Given the description of an element on the screen output the (x, y) to click on. 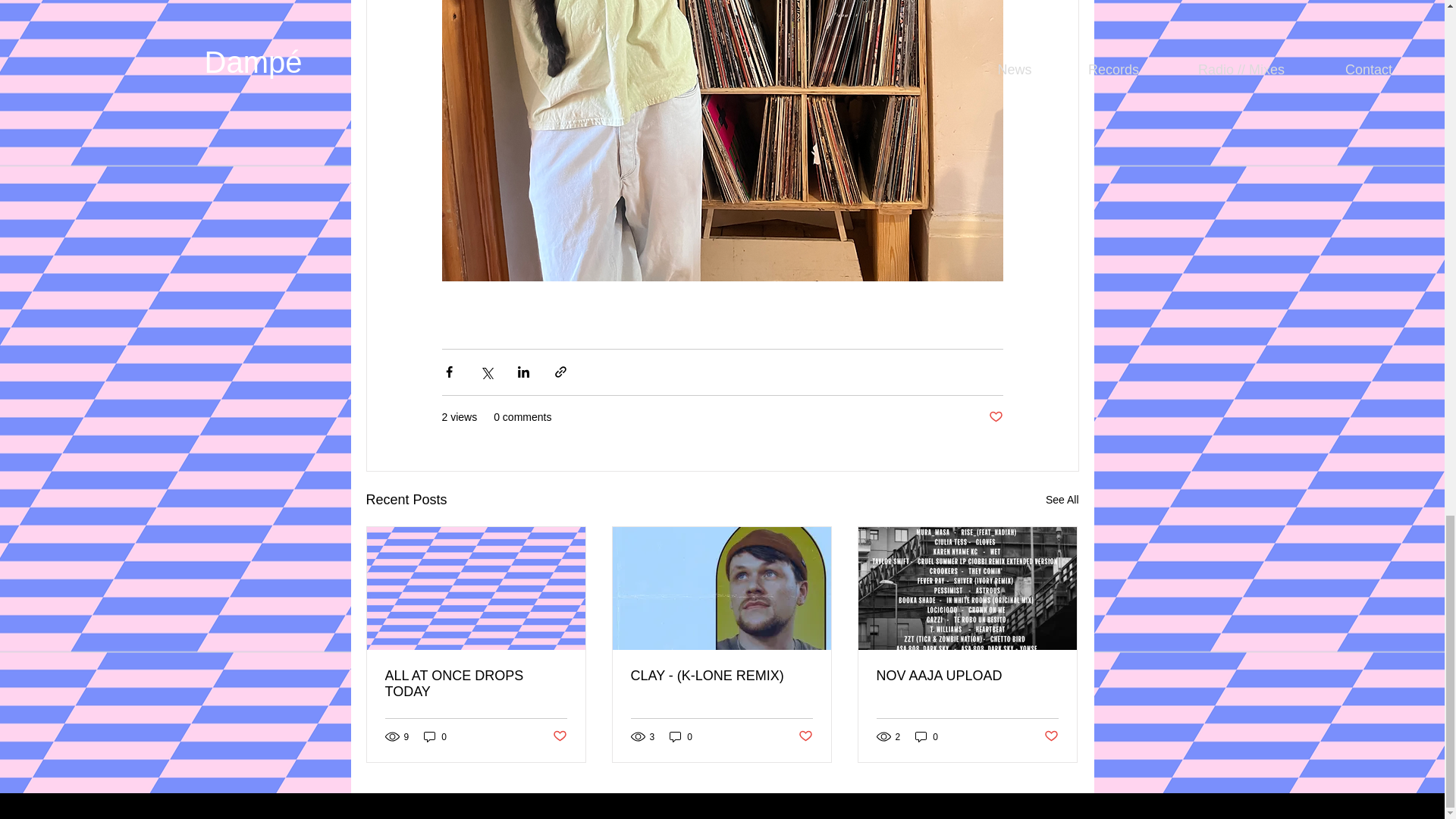
NOV AAJA UPLOAD (967, 675)
Post not marked as liked (995, 417)
0 (926, 736)
0 (435, 736)
Post not marked as liked (558, 736)
0 (681, 736)
Post not marked as liked (1050, 736)
ALL AT ONCE DROPS TODAY (476, 684)
Post not marked as liked (804, 736)
See All (1061, 499)
